Given the description of an element on the screen output the (x, y) to click on. 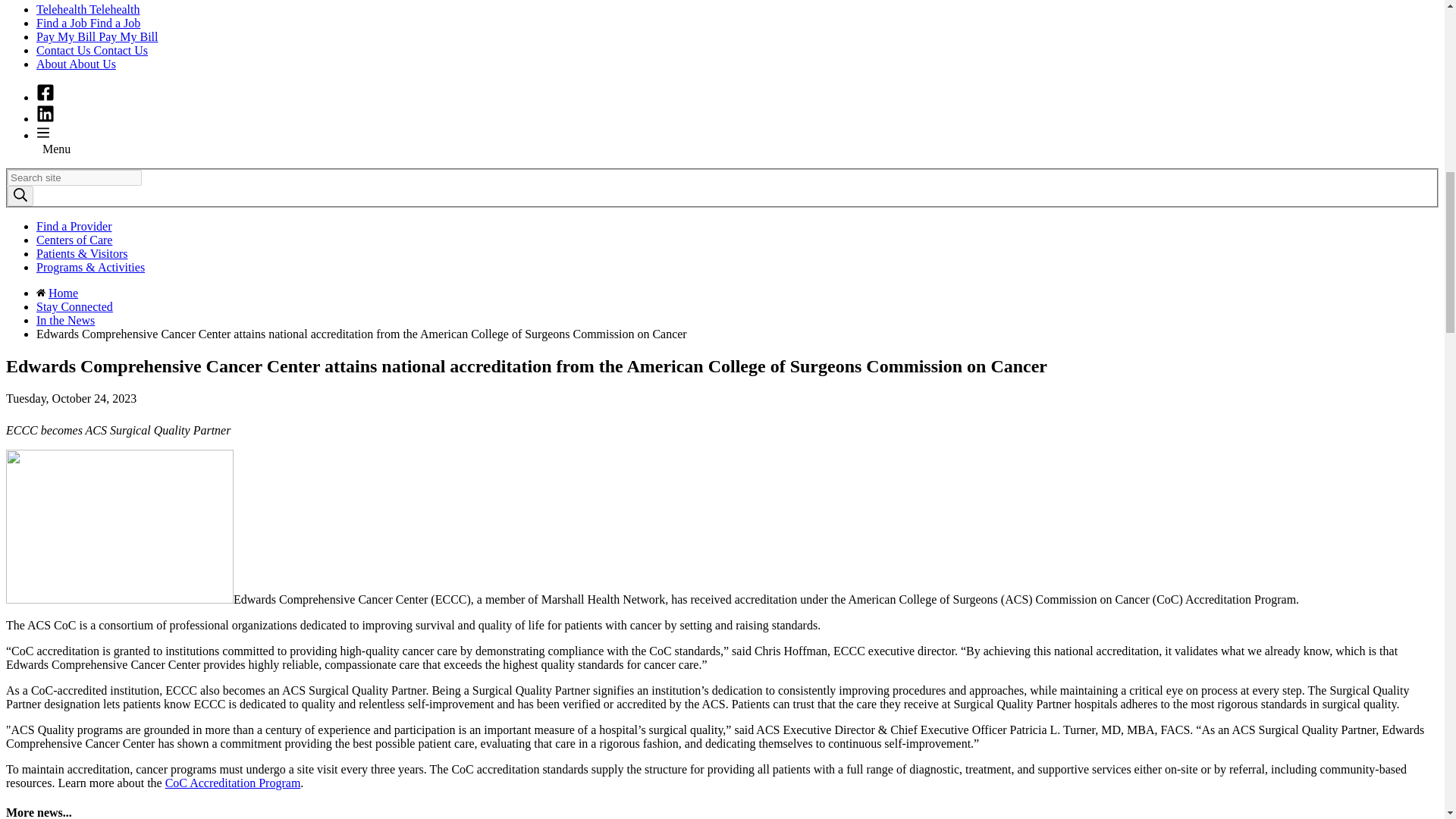
Centers of Care (74, 239)
LinkedIn (45, 118)
Facebook (45, 97)
About Us (76, 63)
Contact Us (92, 50)
Pay My Bill (96, 36)
Find a Job (87, 22)
Telehealth (87, 9)
Find a Provider (74, 226)
